Given the description of an element on the screen output the (x, y) to click on. 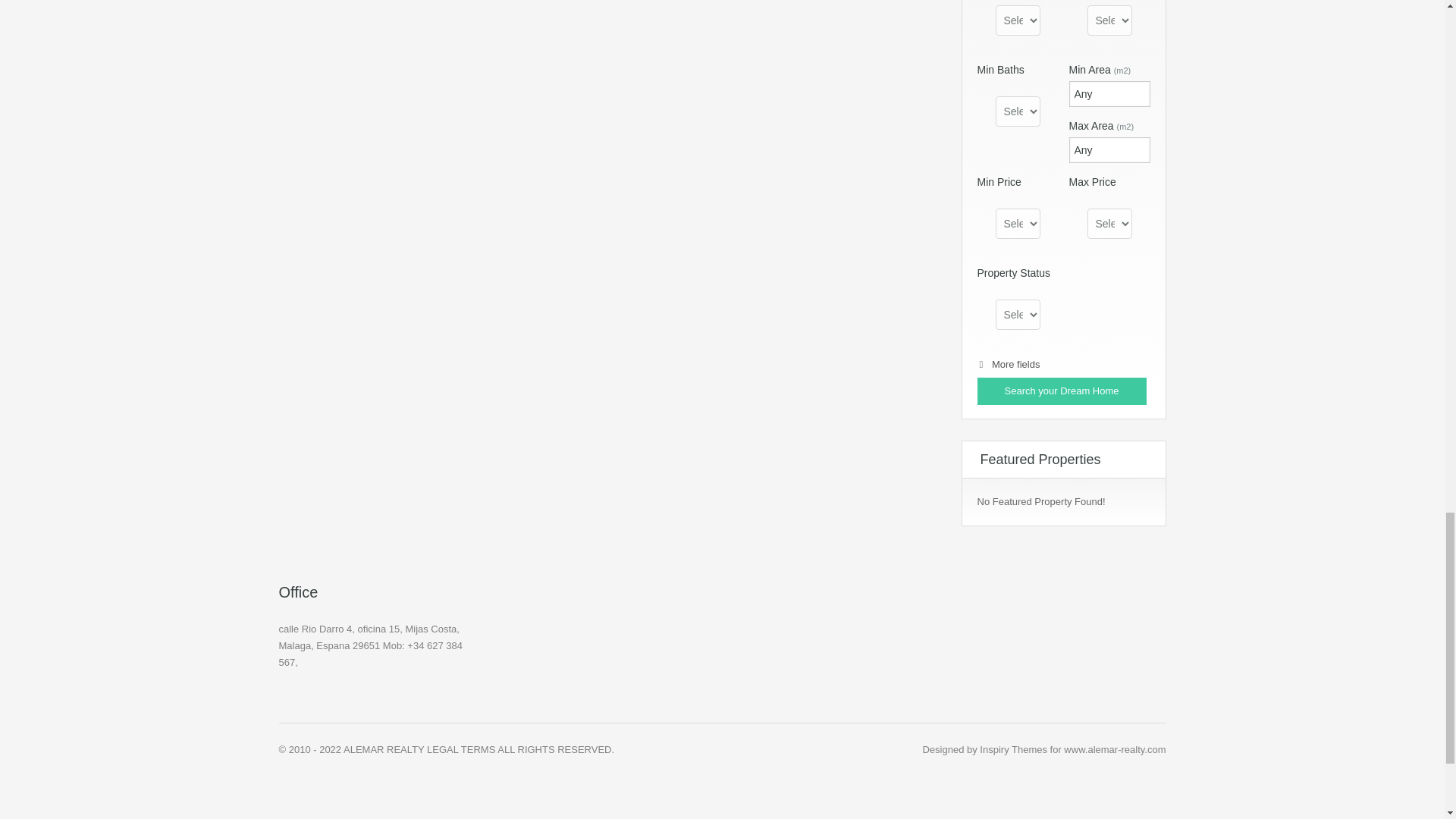
Only provide digits! (1109, 149)
Only provide digits! (1109, 94)
Search your Dream Home (1060, 390)
